Given the description of an element on the screen output the (x, y) to click on. 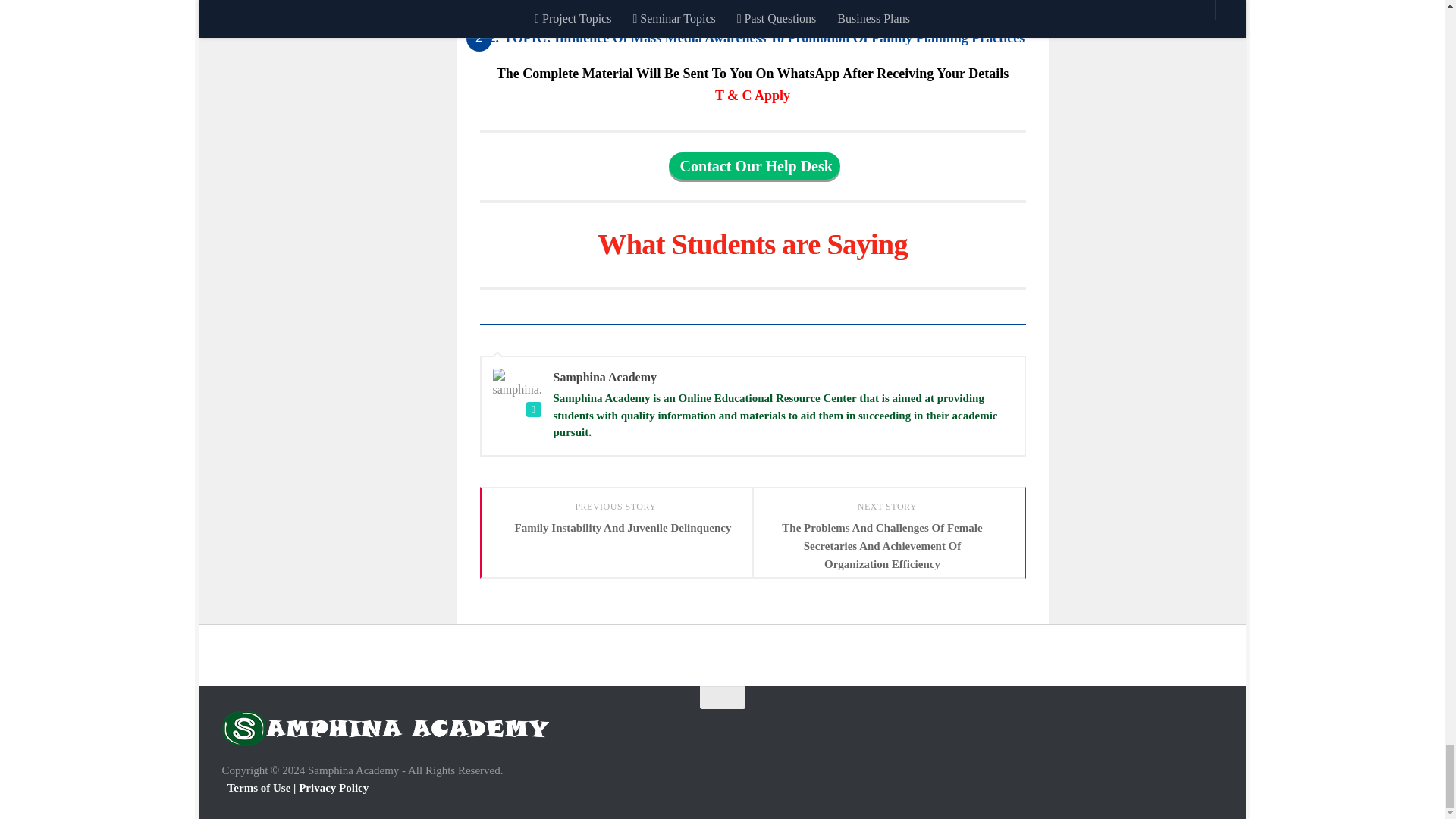
Contact Our Help Desk (754, 165)
Contact Information Page (754, 165)
Samphina Terms and Conditions (752, 95)
Family Instability And Juvenile Delinquency (616, 528)
